Given the description of an element on the screen output the (x, y) to click on. 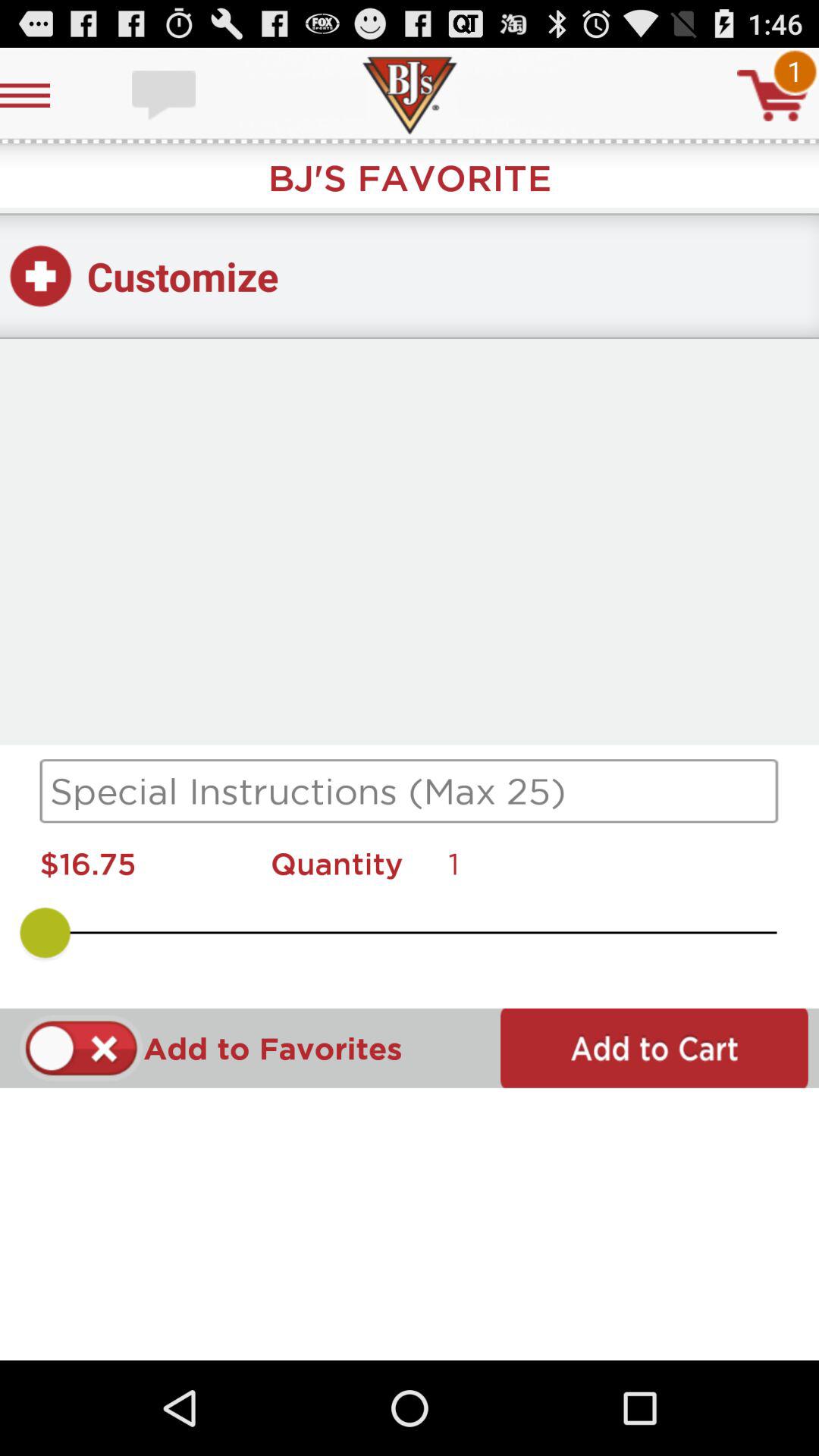
go to search (409, 790)
